Given the description of an element on the screen output the (x, y) to click on. 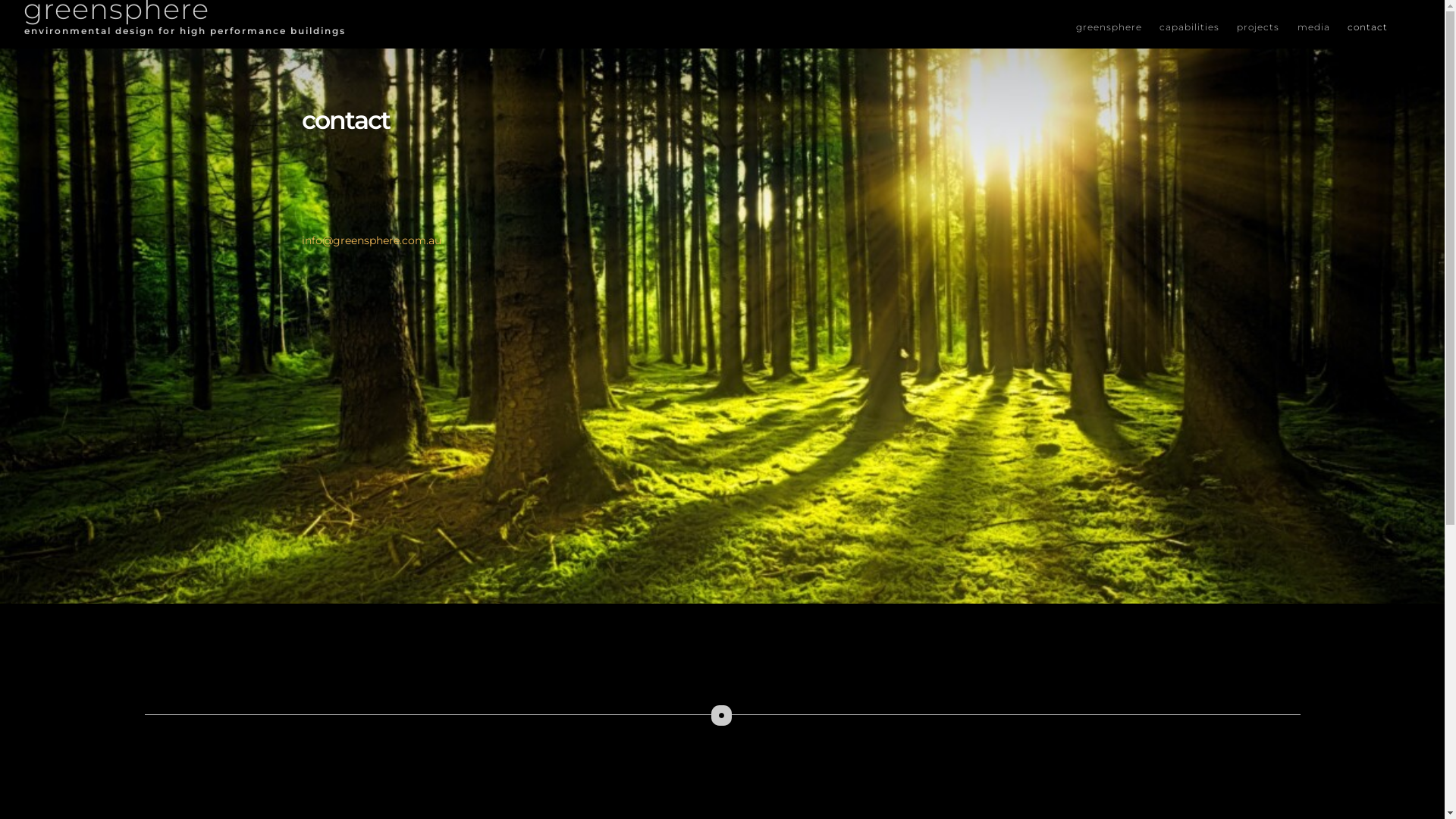
projects Element type: text (1263, 26)
greensphere Element type: text (1114, 26)
contact Element type: text (1373, 26)
info@greensphere.com.au Element type: text (371, 240)
capabilities Element type: text (1194, 26)
media Element type: text (1319, 26)
By: Franchi Design Element type: text (239, 806)
